Given the description of an element on the screen output the (x, y) to click on. 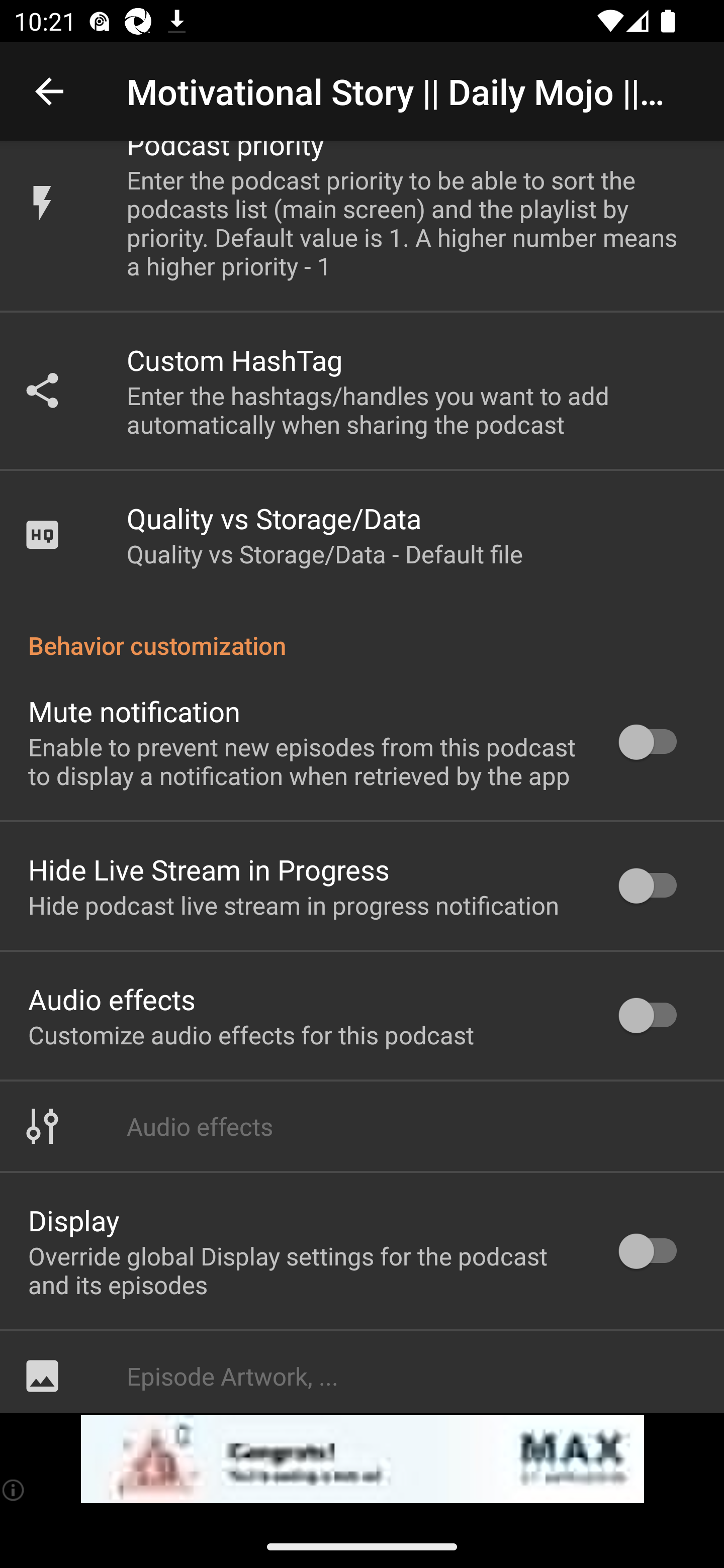
Navigate up (49, 91)
Audio effects (362, 1126)
Episode Artwork, ... (362, 1371)
app-monetization (362, 1459)
(i) (14, 1489)
